Given the description of an element on the screen output the (x, y) to click on. 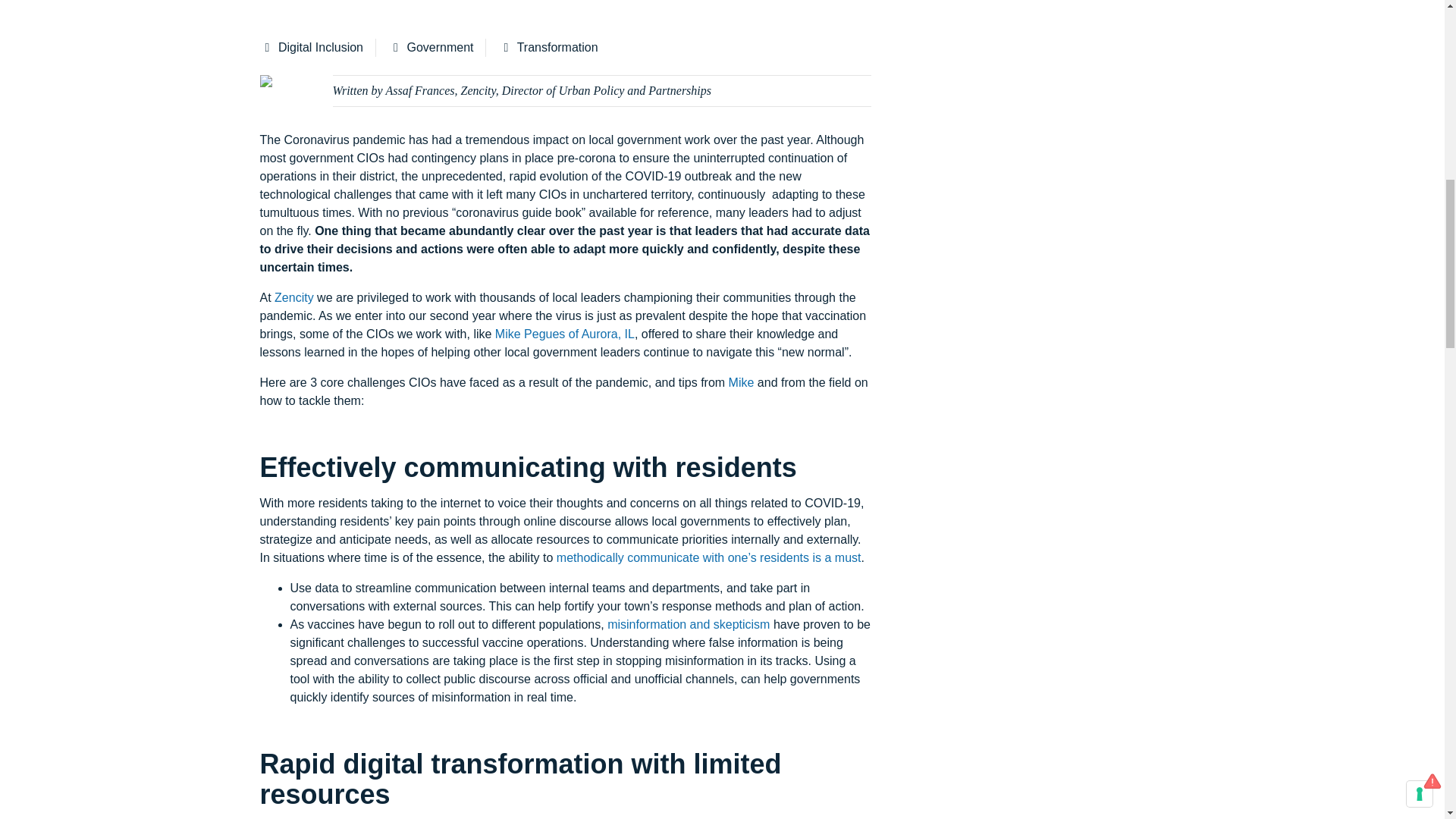
Zencity (294, 297)
Transformation (548, 47)
misinformation and skepticism (688, 624)
Mike Pegues of Aurora, IL (564, 333)
Digital Inclusion (317, 47)
Mike (741, 382)
Government (430, 47)
